Given the description of an element on the screen output the (x, y) to click on. 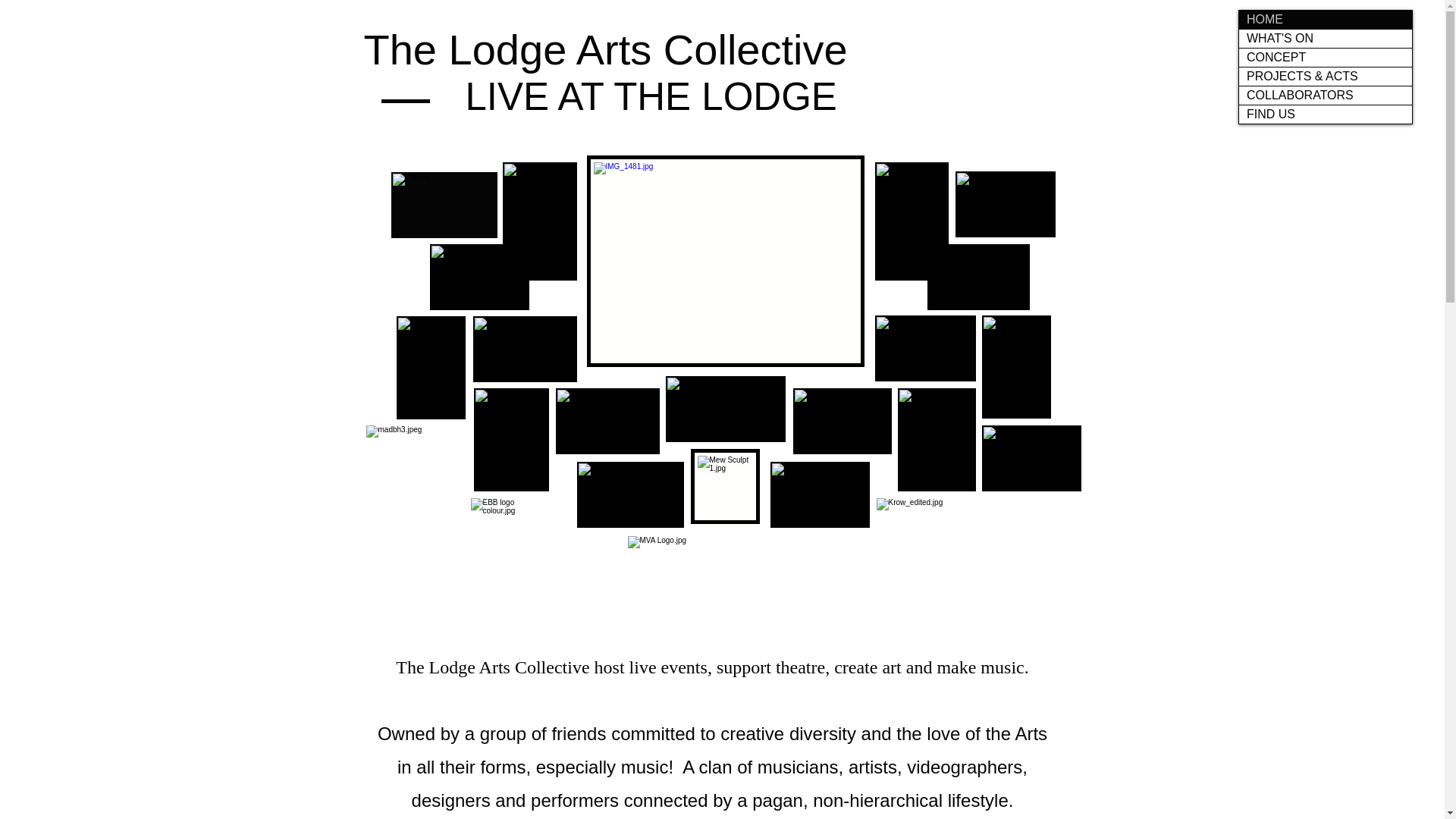
COLLABORATORS (1325, 95)
FIND US (1325, 114)
WHAT'S ON (1325, 38)
HOME (1325, 19)
The Lodge Arts Collective (605, 49)
CONCEPT (1325, 57)
